Given the description of an element on the screen output the (x, y) to click on. 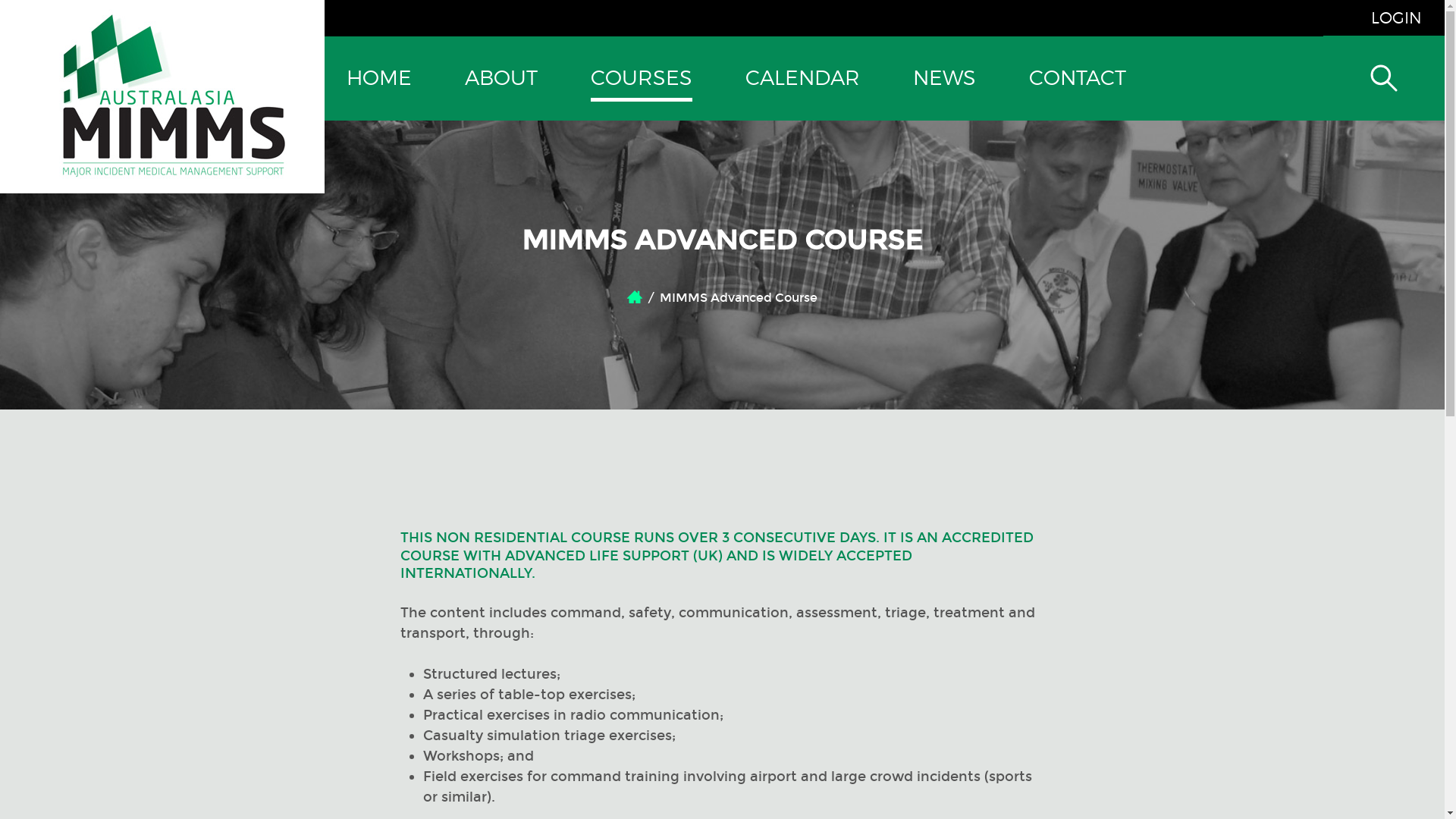
Search Element type: text (1383, 157)
Go to MIMMS homepage Element type: hover (172, 169)
CALENDAR Element type: text (802, 78)
Home Element type: text (634, 296)
ABOUT Element type: text (500, 78)
LOGIN Element type: text (1380, 17)
CONTACT Element type: text (1077, 78)
Skip to main content Element type: text (72, 0)
HOME Element type: text (378, 78)
NEWS Element type: text (944, 78)
COURSES Element type: text (641, 78)
